Given the description of an element on the screen output the (x, y) to click on. 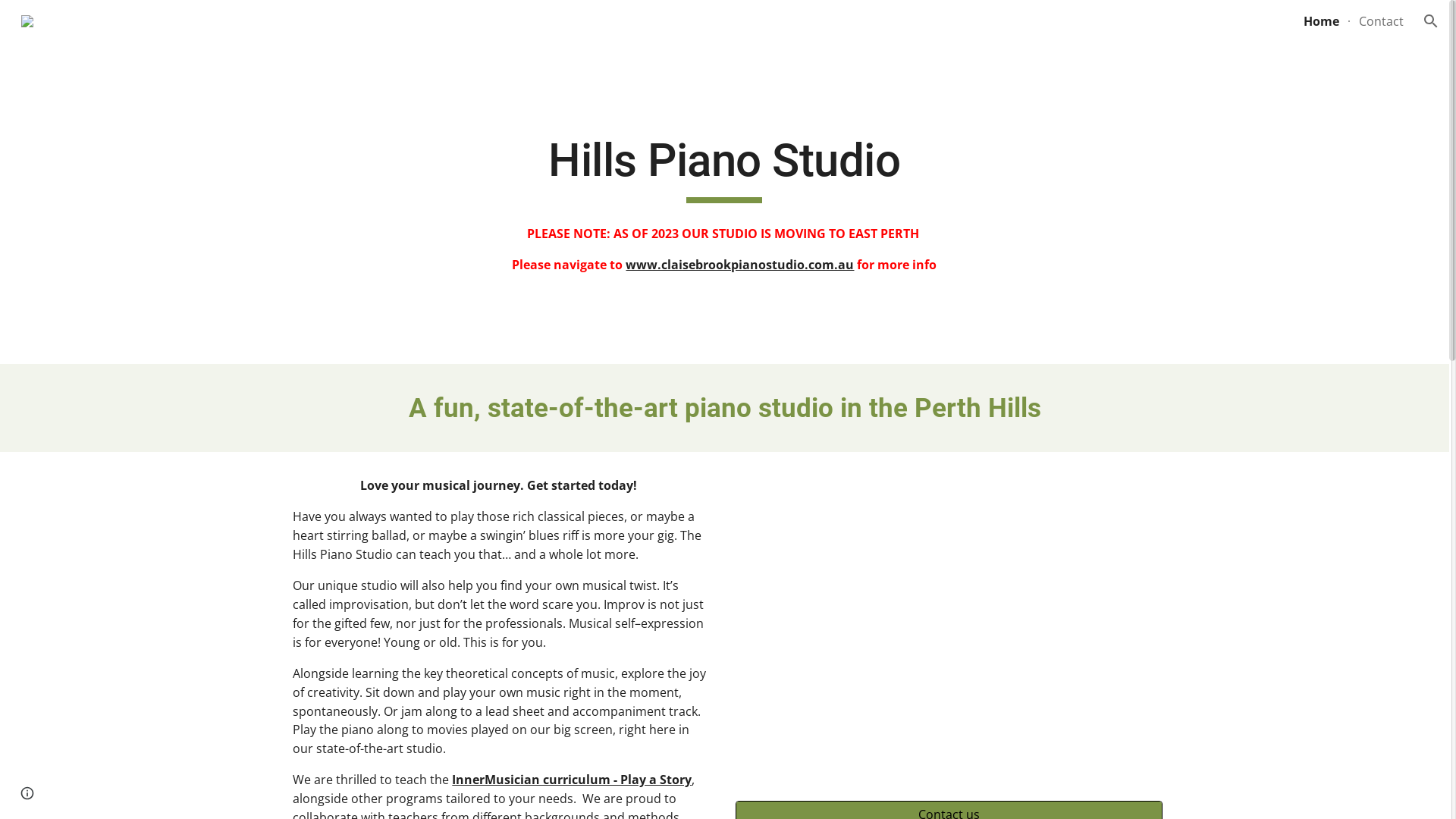
Home Element type: text (1321, 20)
InnerMusician curriculum - Play a Story Element type: text (571, 779)
Contact Element type: text (1380, 20)
www.claisebrookpianostudio.com.au Element type: text (739, 264)
